Given the description of an element on the screen output the (x, y) to click on. 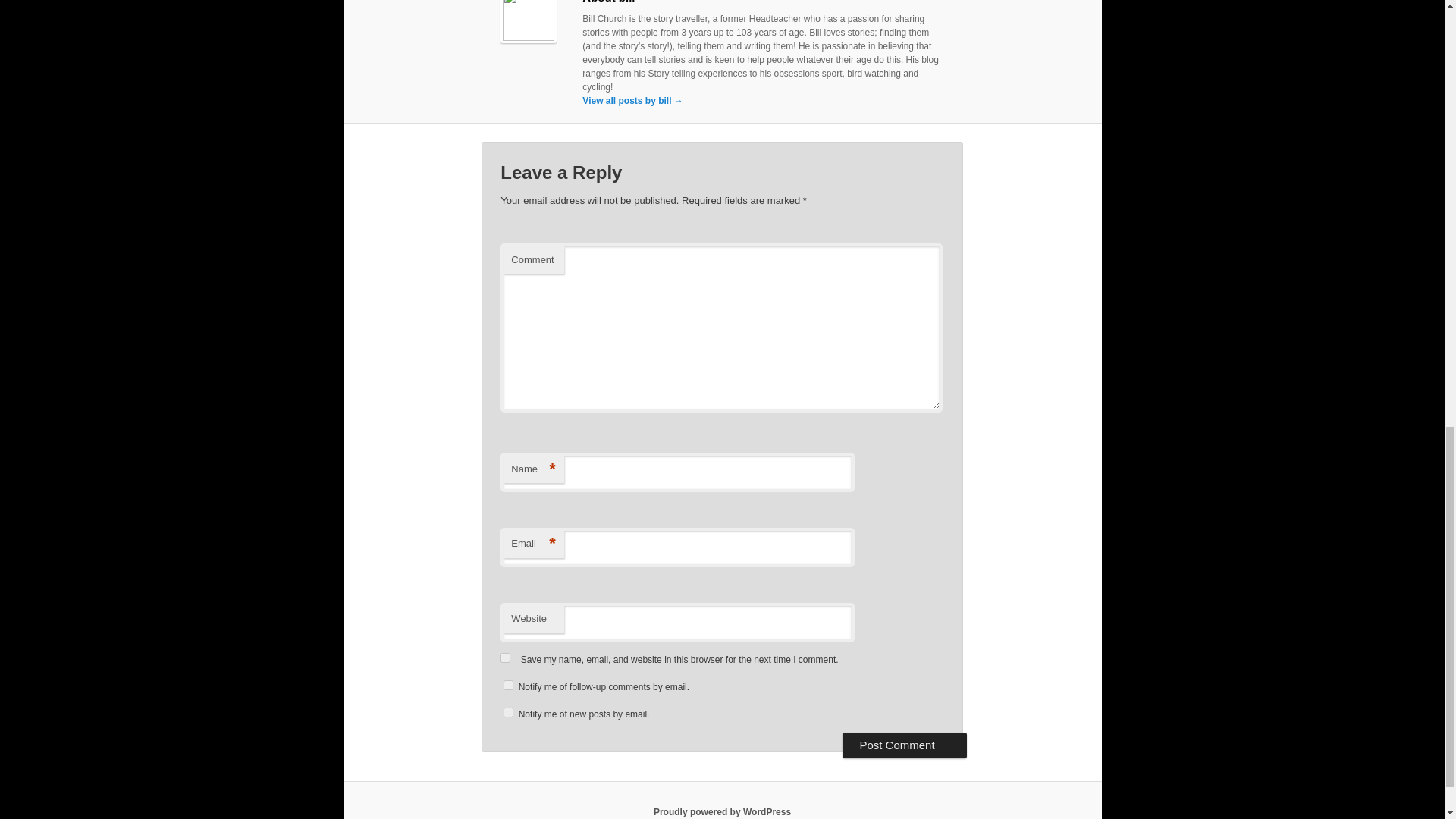
yes (505, 657)
subscribe (508, 685)
Proudly powered by WordPress (721, 810)
subscribe (508, 712)
Post Comment (904, 745)
Semantic Personal Publishing Platform (721, 810)
Post Comment (904, 745)
